Given the description of an element on the screen output the (x, y) to click on. 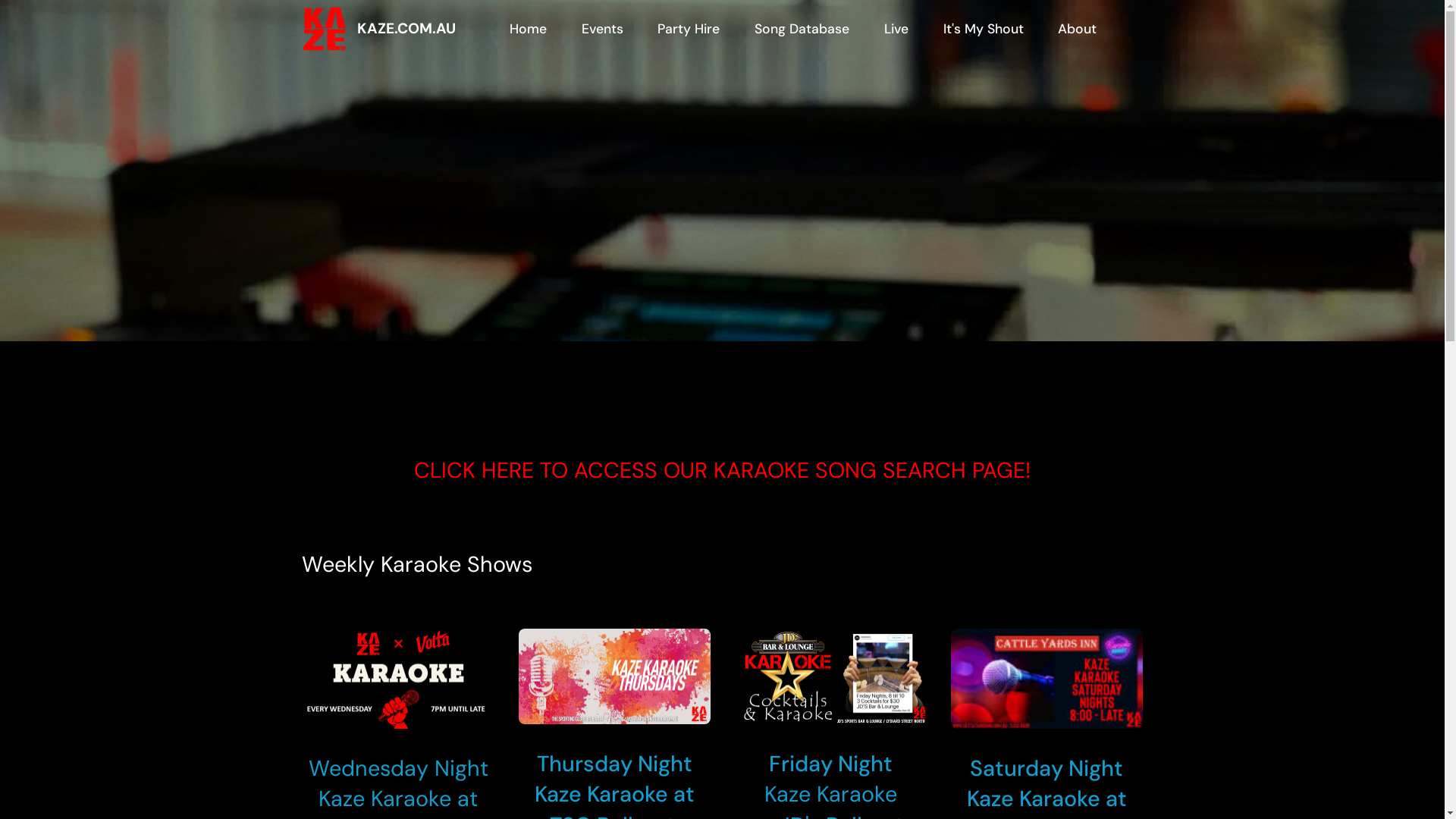
Live Element type: text (896, 28)
It's My Shout Element type: text (982, 28)
Home Element type: text (528, 28)
Party Hire Element type: text (688, 28)
Song Database Element type: text (801, 28)
KAZE.COM.AU Element type: text (424, 29)
About Element type: text (1077, 28)
CLICK HERE TO ACCESS OUR KARAOKE SONG SEARCH PAGE! Element type: text (722, 469)
Events Element type: text (602, 28)
